Given the description of an element on the screen output the (x, y) to click on. 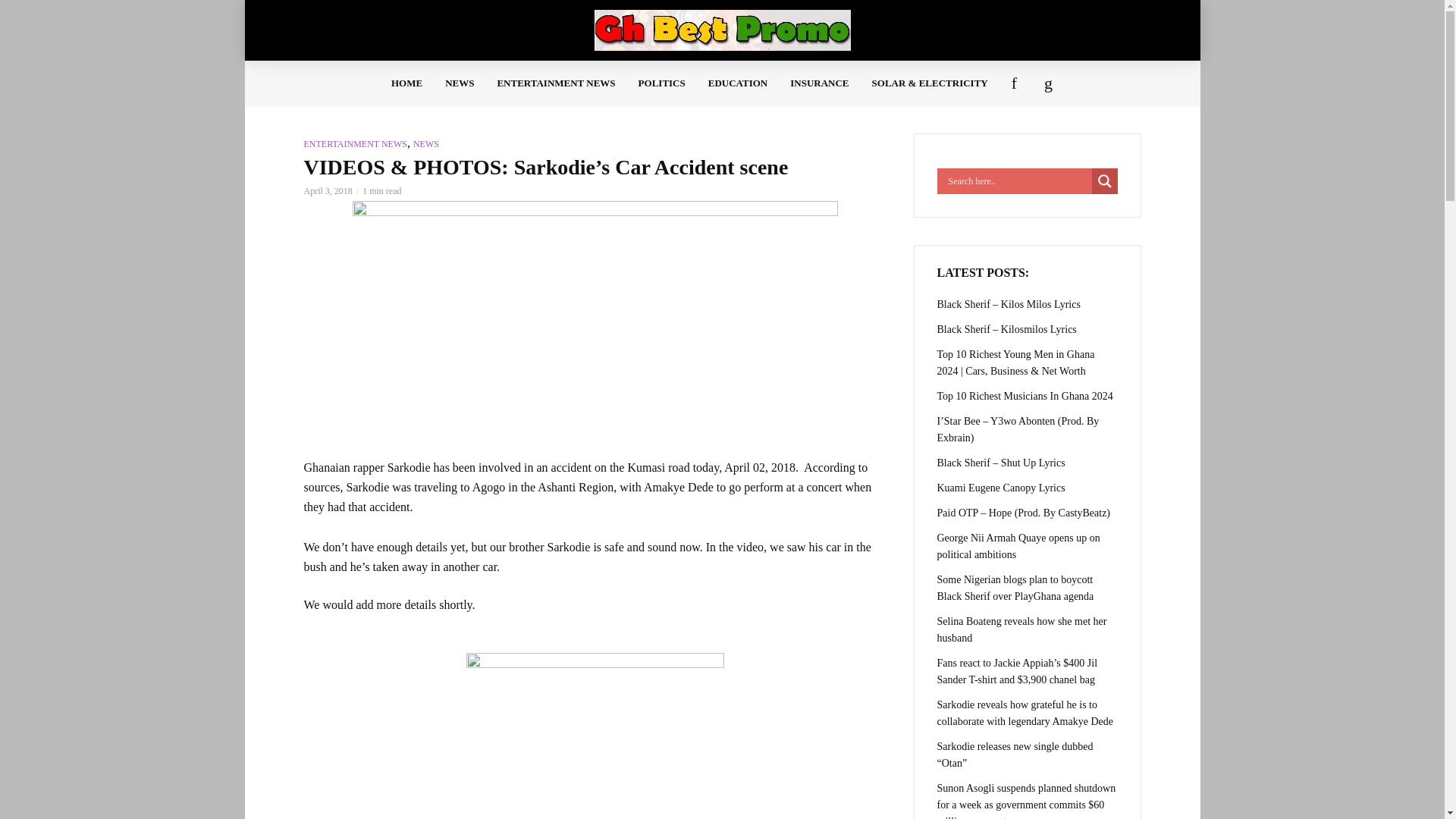
ENTERTAINMENT NEWS (555, 83)
POLITICS (662, 83)
ENTERTAINMENT NEWS (354, 143)
EDUCATION (737, 83)
NEWS (426, 143)
HOME (406, 83)
INSURANCE (819, 83)
NEWS (458, 83)
